Given the description of an element on the screen output the (x, y) to click on. 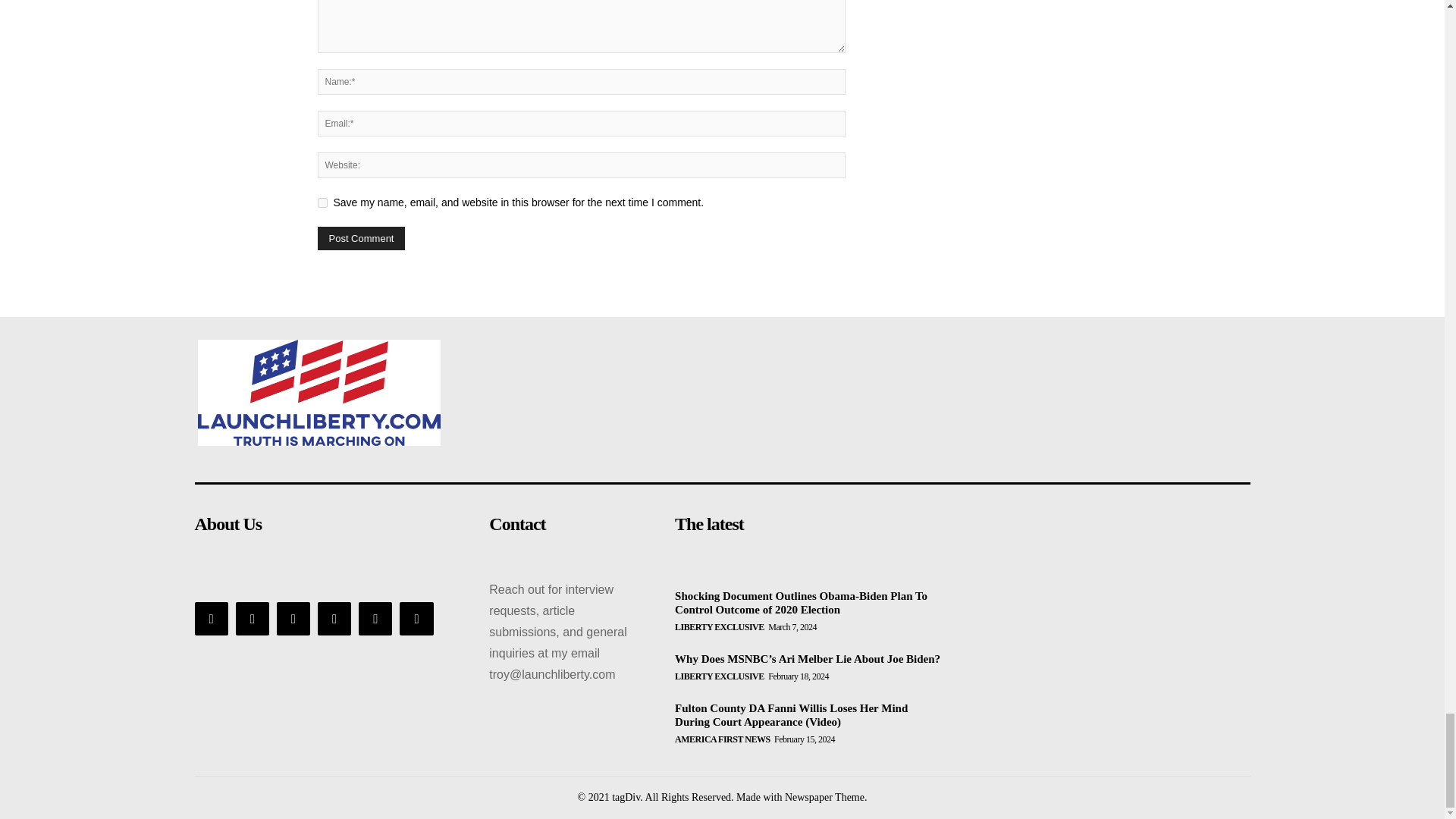
yes (321, 203)
Post Comment (360, 238)
